Given the description of an element on the screen output the (x, y) to click on. 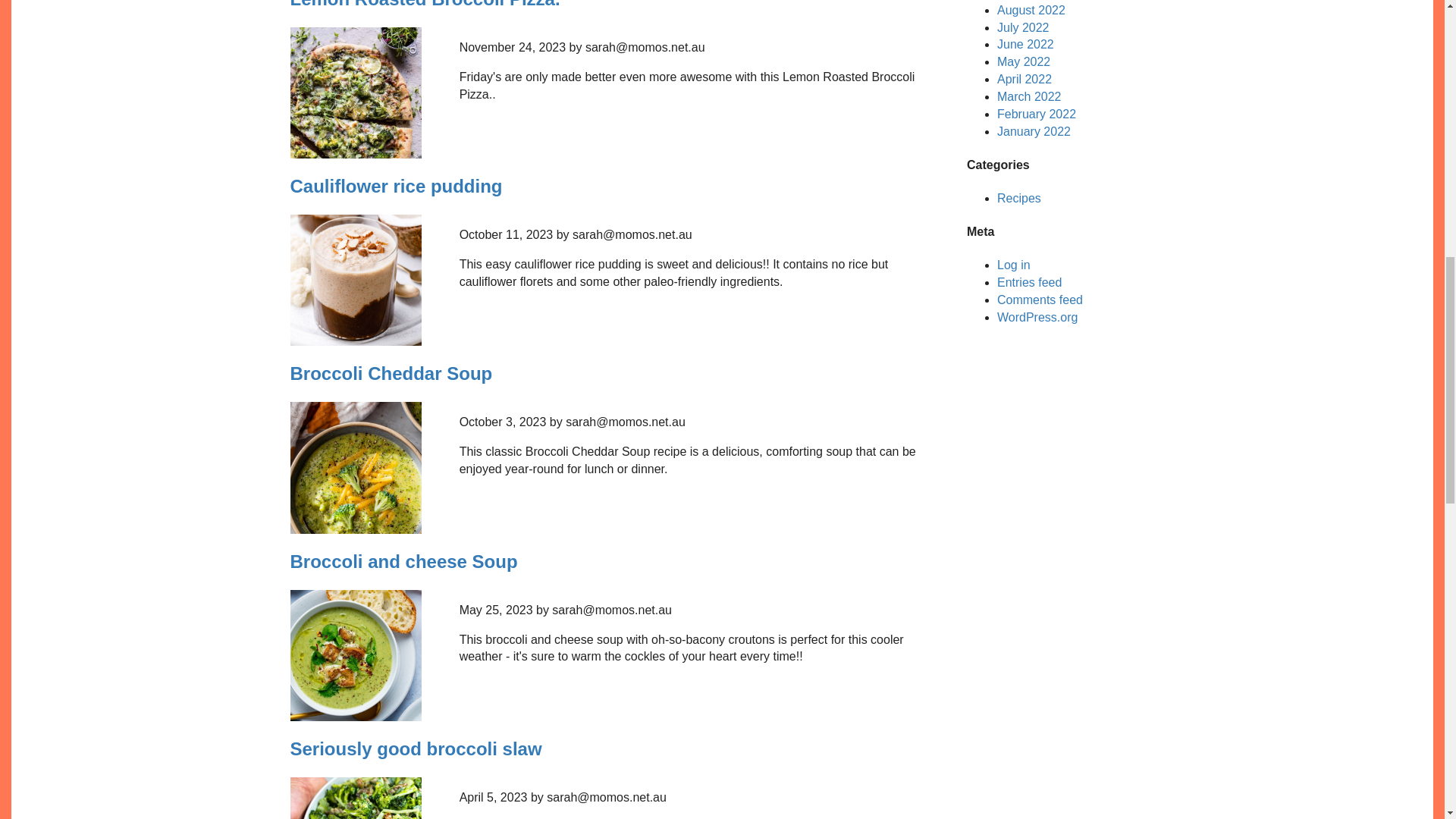
Cauliflower rice pudding (395, 186)
Broccoli Cheddar Soup (390, 373)
Seriously good broccoli slaw (415, 748)
Broccoli and cheese Soup (402, 560)
Lemon Roasted Broccoli Pizza. (424, 4)
